Given the description of an element on the screen output the (x, y) to click on. 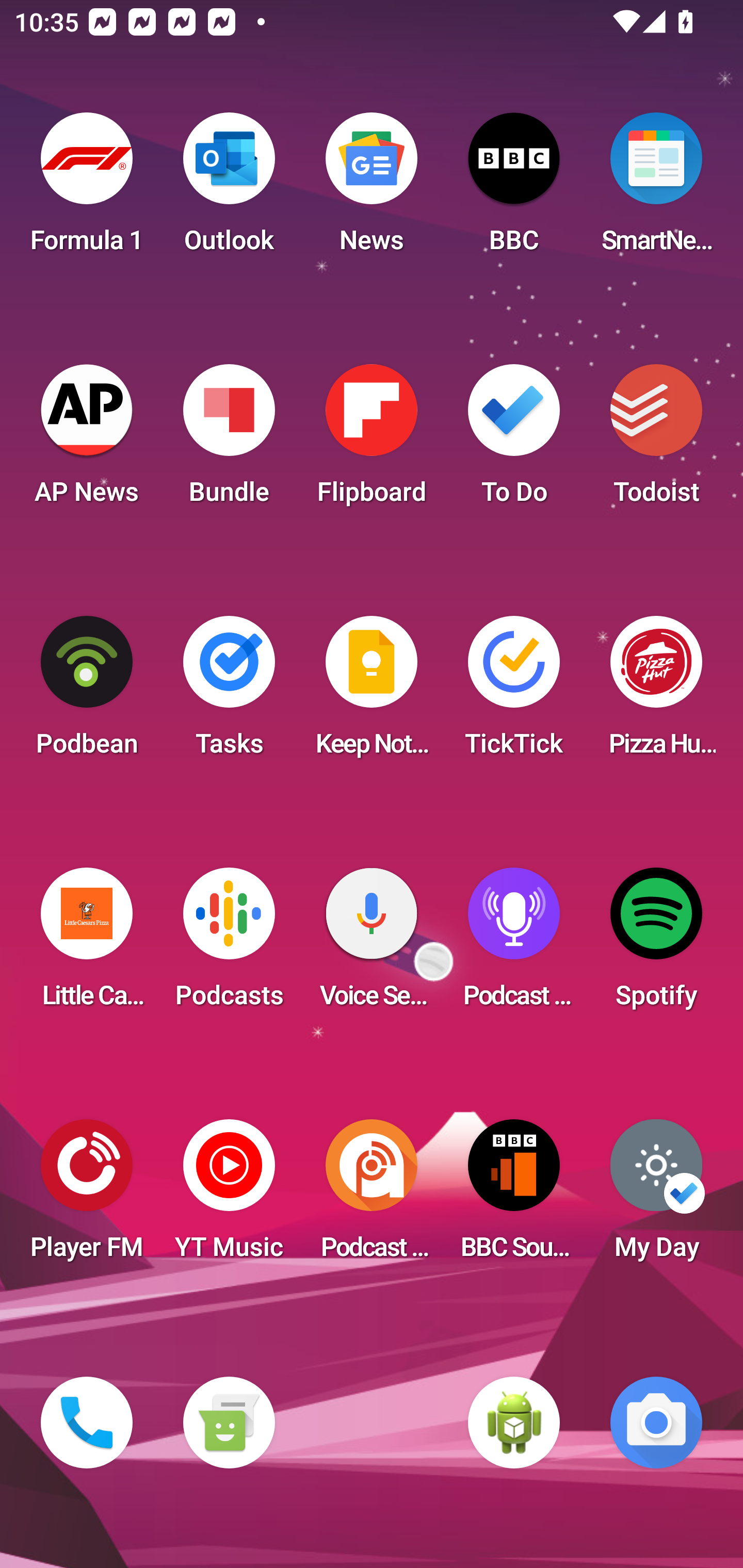
Formula 1 (86, 188)
Outlook (228, 188)
News (371, 188)
BBC (513, 188)
SmartNews (656, 188)
AP News (86, 440)
Bundle (228, 440)
Flipboard (371, 440)
To Do (513, 440)
Todoist (656, 440)
Podbean (86, 692)
Tasks (228, 692)
Keep Notes (371, 692)
TickTick (513, 692)
Pizza Hut HK & Macau (656, 692)
Little Caesars Pizza (86, 943)
Podcasts (228, 943)
Voice Search (371, 943)
Podcast Player (513, 943)
Spotify (656, 943)
Player FM (86, 1195)
YT Music (228, 1195)
Podcast Addict (371, 1195)
BBC Sounds (513, 1195)
My Day (656, 1195)
Phone (86, 1422)
Messaging (228, 1422)
WebView Browser Tester (513, 1422)
Camera (656, 1422)
